Given the description of an element on the screen output the (x, y) to click on. 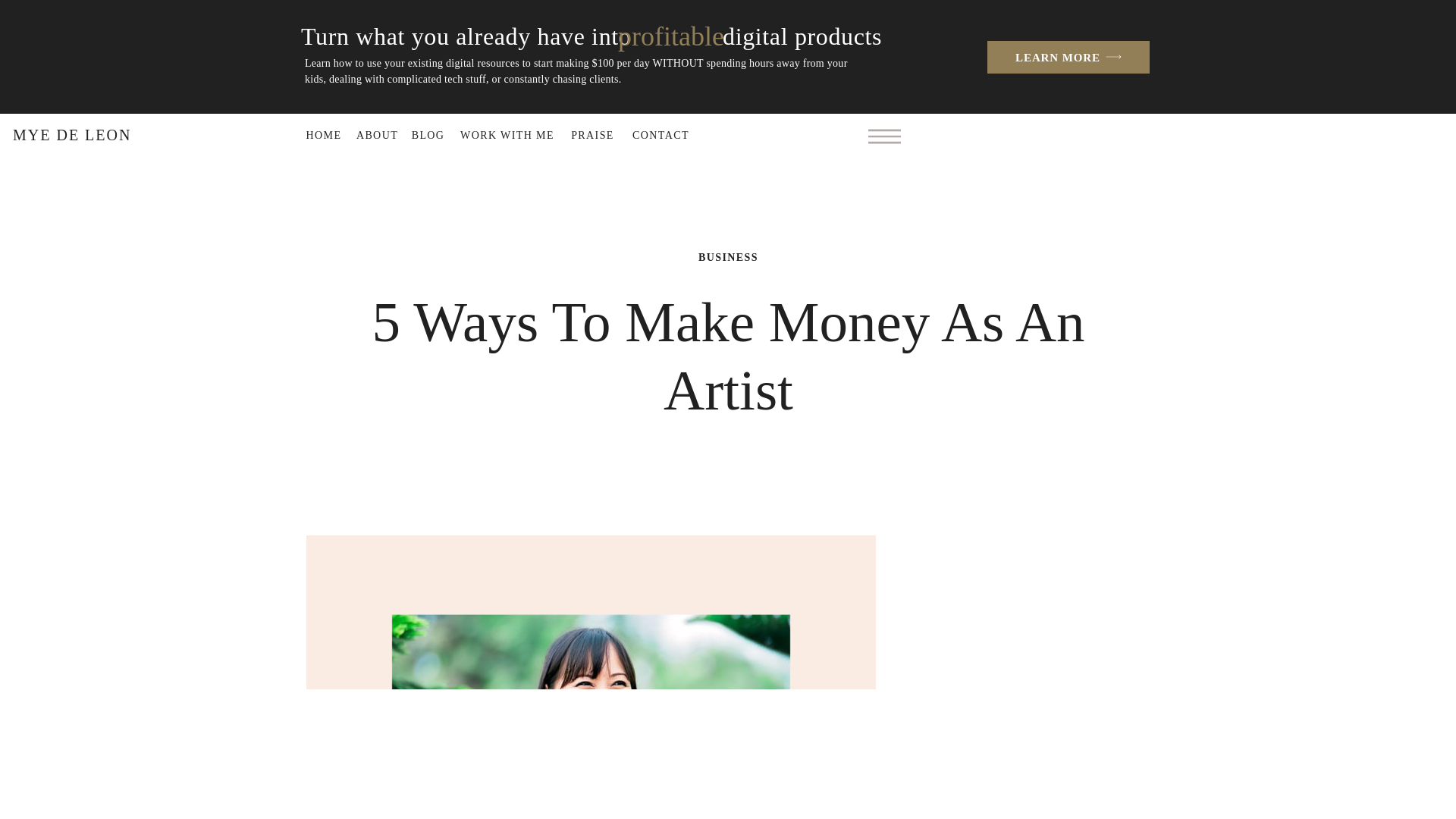
HOME (323, 133)
CONTACT (660, 133)
BUSINESS (728, 256)
LEARN MORE (1047, 57)
WORK WITH ME (507, 133)
BLOG (427, 133)
PRAISE (593, 133)
ABOUT (376, 133)
MYE DE LEON (90, 133)
